Given the description of an element on the screen output the (x, y) to click on. 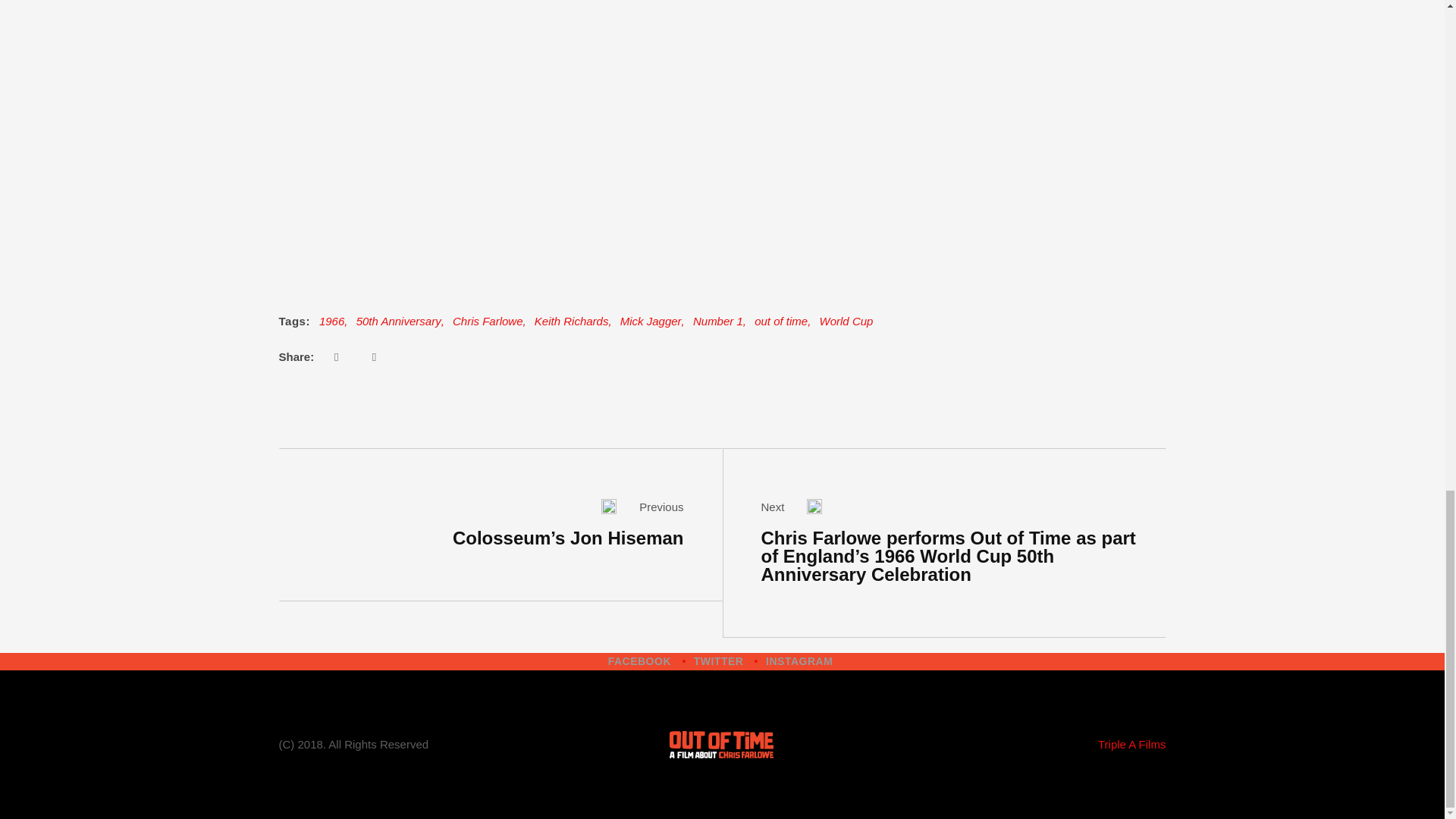
Chris Farlowe (487, 322)
Number 1 (717, 322)
Triple A Films (1131, 746)
INSTAGRAM (798, 661)
Keith Richards (571, 322)
Mick Jagger (650, 322)
FACEBOOK (639, 661)
out of time (781, 322)
1966 (330, 322)
TWITTER (719, 661)
50th Anniversary (398, 322)
World Cup (846, 322)
